Given the description of an element on the screen output the (x, y) to click on. 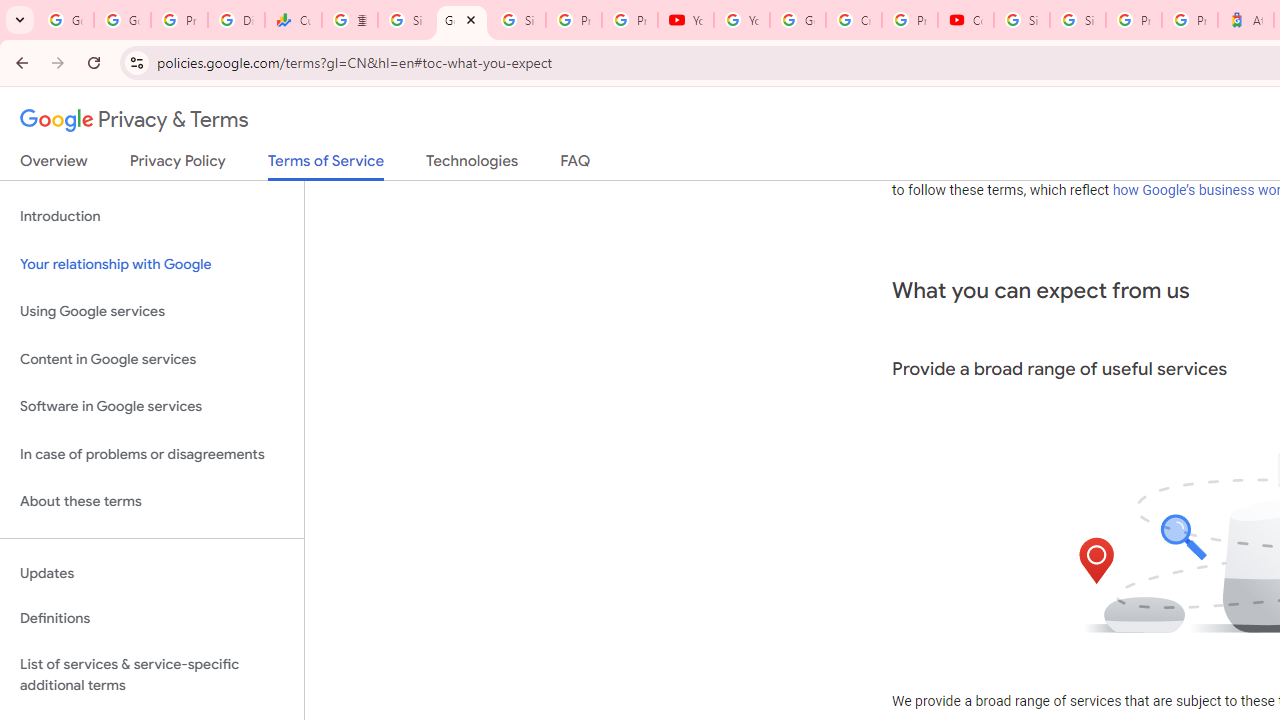
Privacy Policy (177, 165)
Google Account Help (797, 20)
Updates (152, 573)
YouTube (742, 20)
Technologies (472, 165)
System (10, 11)
Terms of Service (326, 166)
View site information (136, 62)
List of services & service-specific additional terms (152, 674)
Reload (93, 62)
About these terms (152, 502)
Privacy Checkup (629, 20)
